Given the description of an element on the screen output the (x, y) to click on. 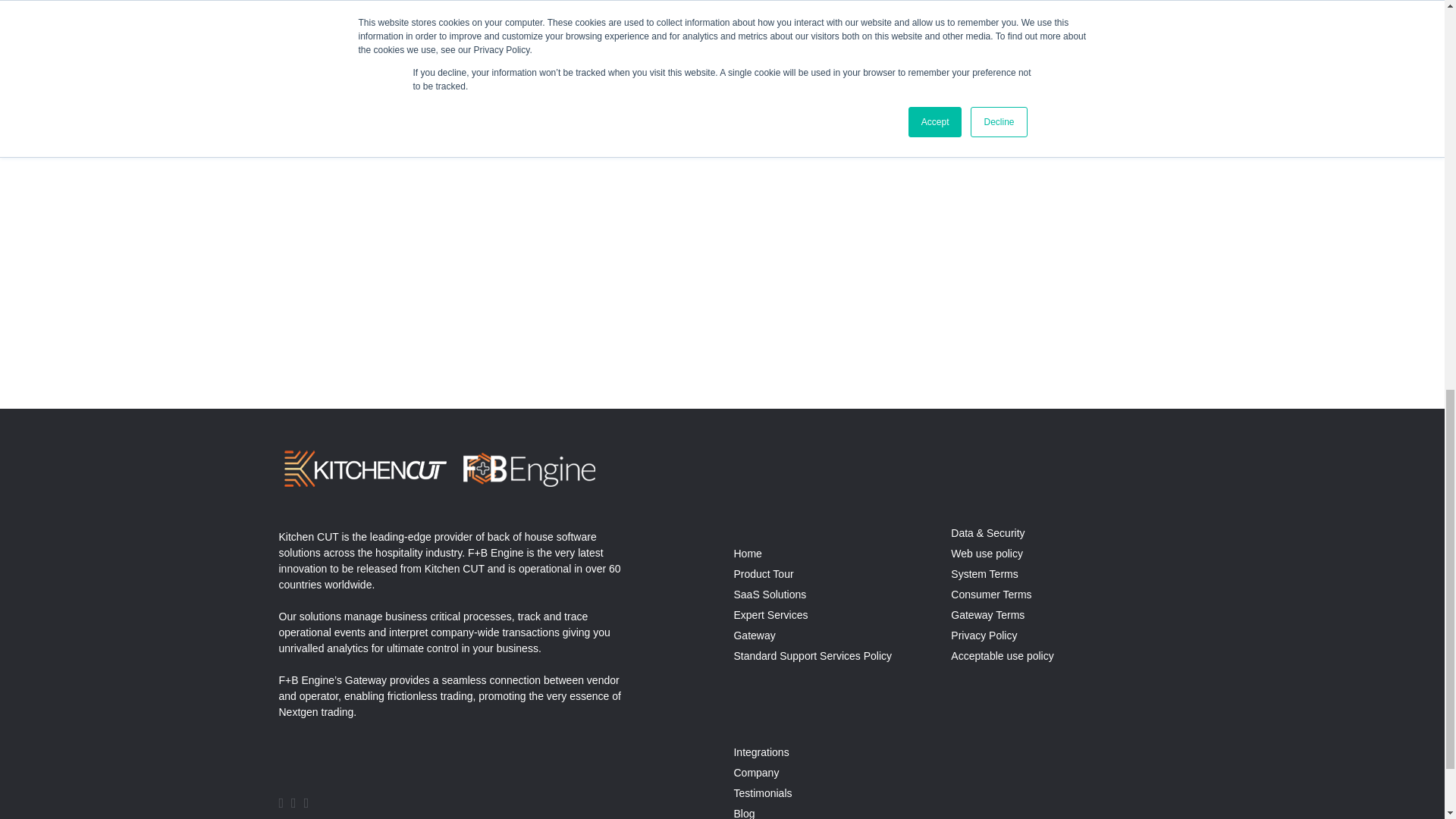
Web use policy (986, 553)
Home (747, 553)
Gateway (753, 635)
SaaS Solutions (769, 594)
Integrations (761, 752)
Gateway Terms (987, 614)
Expert Services (770, 614)
Testimonials (762, 793)
Consumer Terms (990, 594)
System Terms (983, 573)
Privacy Policy (983, 635)
Standard Support Services Policy (812, 655)
Blog (743, 813)
Company (755, 772)
Acceptable use policy (1001, 655)
